Given the description of an element on the screen output the (x, y) to click on. 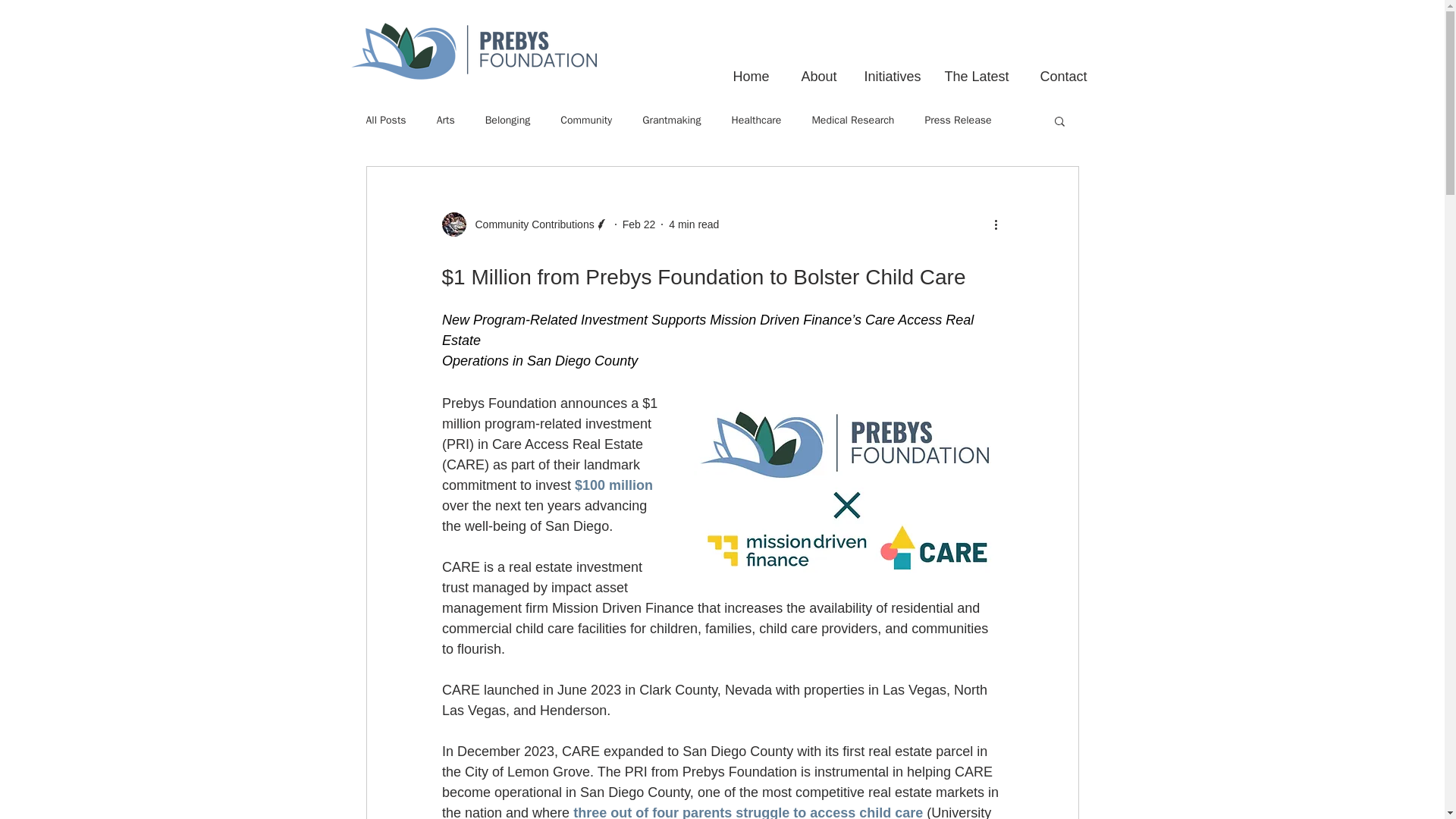
three out of four parents struggle to access child care (748, 812)
About (810, 69)
All Posts (385, 120)
Community Contributions (524, 224)
Arts (445, 120)
Community Contributions (529, 224)
Feb 22 (639, 224)
Home (741, 69)
4 min read (693, 224)
Community (585, 120)
Contact (1055, 69)
Belonging (507, 120)
Grantmaking (671, 120)
Press Release (957, 120)
Healthcare (755, 120)
